Given the description of an element on the screen output the (x, y) to click on. 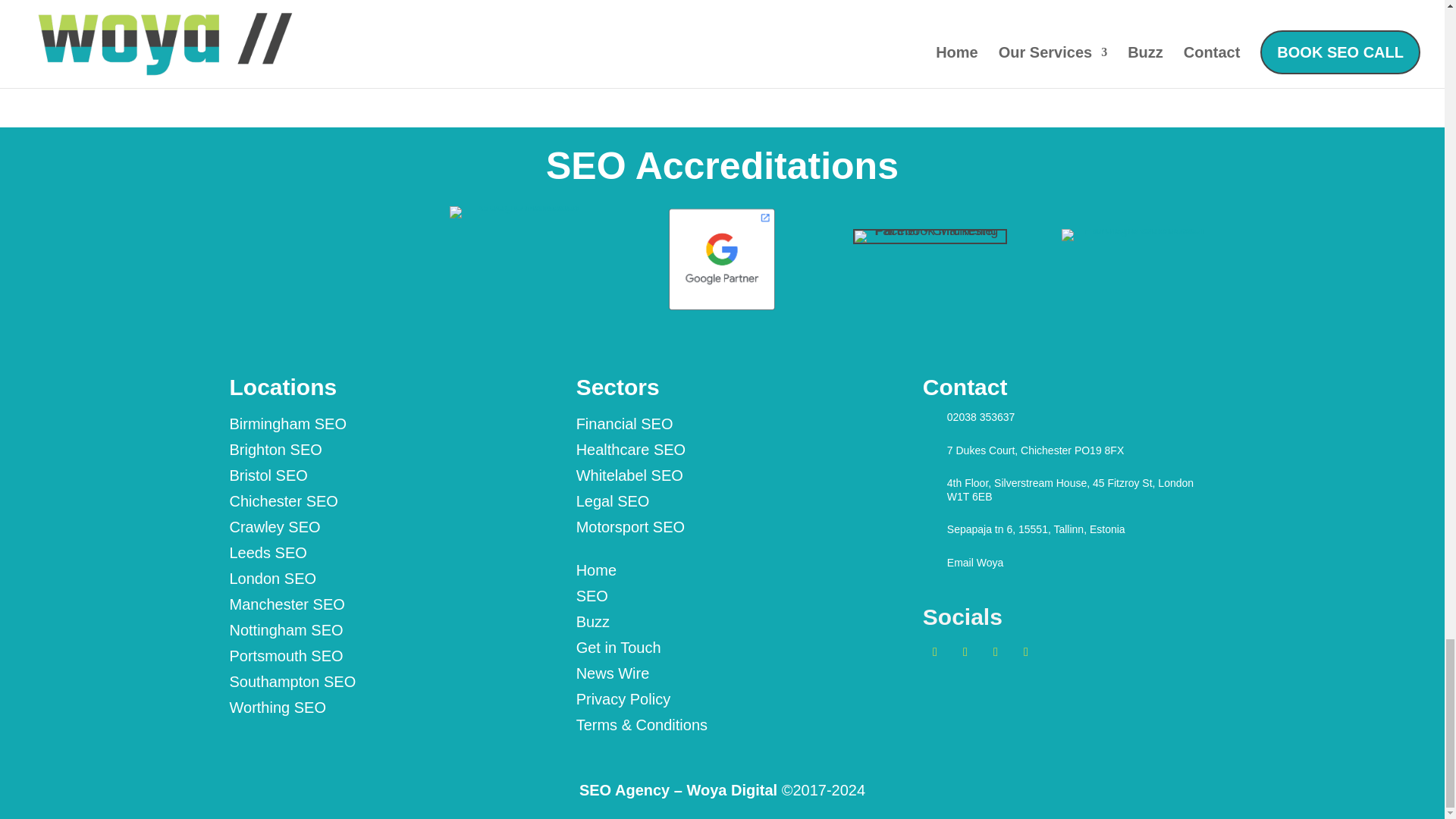
facebook-ft (930, 236)
Best SEO Agency London (513, 212)
Follow on X (935, 651)
Follow on Instagram (995, 651)
Follow on Facebook (964, 651)
Woya TCR UK Official Marketing Partner - 2024 (1138, 234)
